Given the description of an element on the screen output the (x, y) to click on. 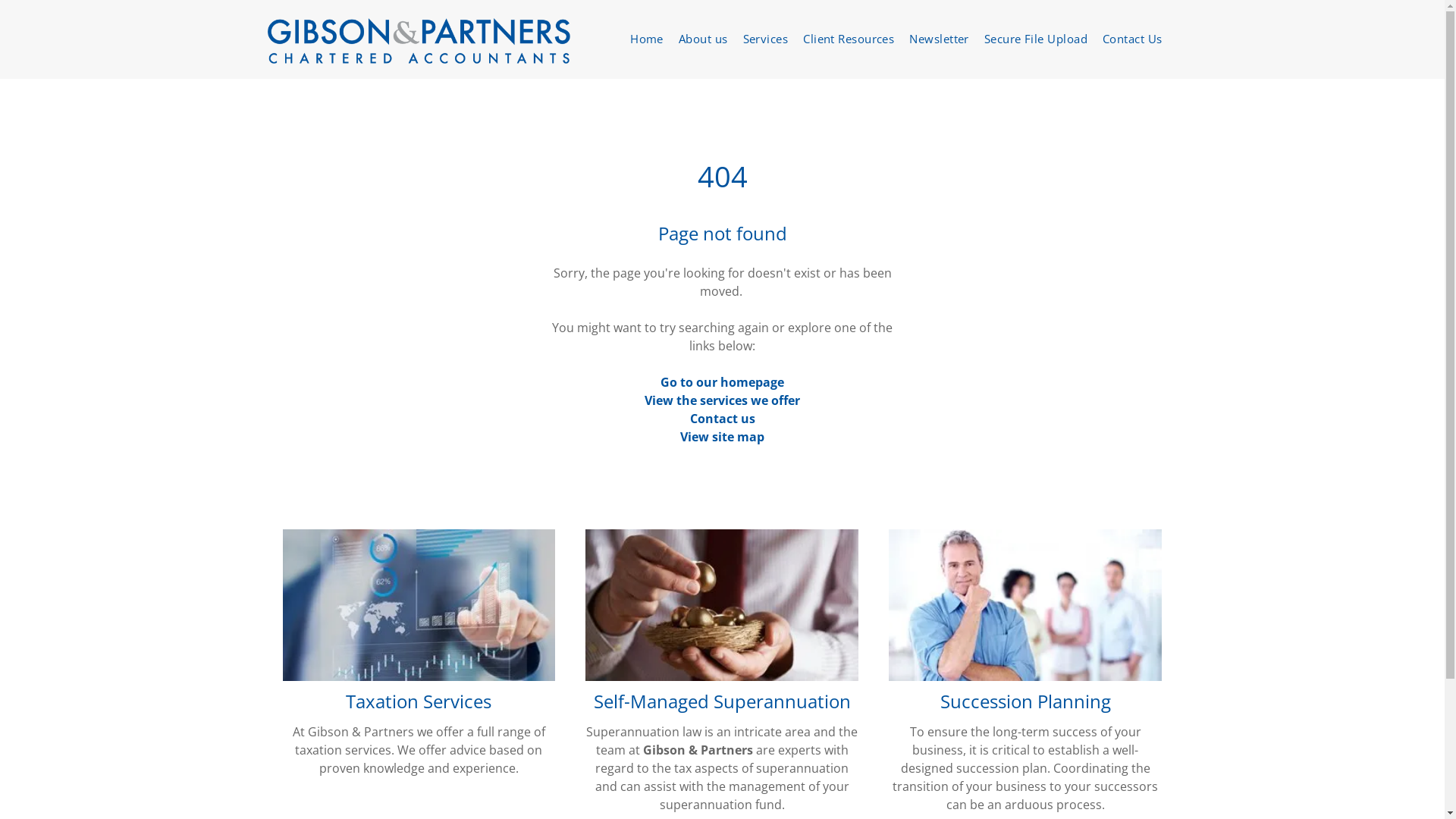
About us Element type: text (703, 38)
Contact us Element type: text (722, 418)
Go to our homepage Element type: text (722, 381)
Client Resources Element type: text (848, 38)
Newsletter Element type: text (938, 38)
Home Element type: text (646, 38)
Contact Us Element type: text (1132, 38)
View the services we offer Element type: text (722, 400)
View site map Element type: text (722, 436)
Secure File Upload Element type: text (1035, 38)
Services Element type: text (765, 38)
